Given the description of an element on the screen output the (x, y) to click on. 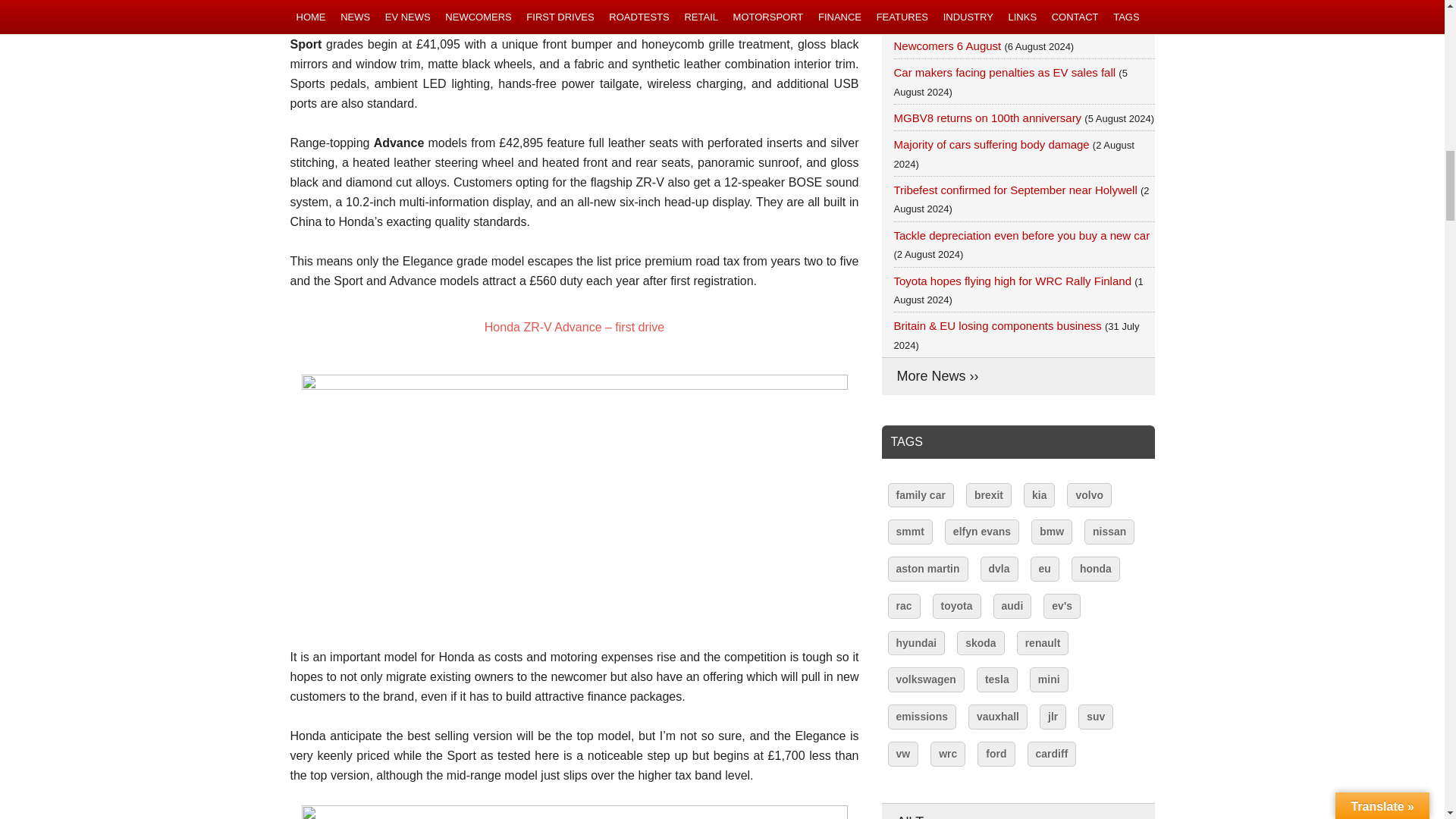
Permanent link to Majority of cars suffering body damage (991, 144)
Permanent link to Newcomers 6 August (947, 45)
Permanent link to MGBV8 returns on 100th anniversary (987, 117)
